Given the description of an element on the screen output the (x, y) to click on. 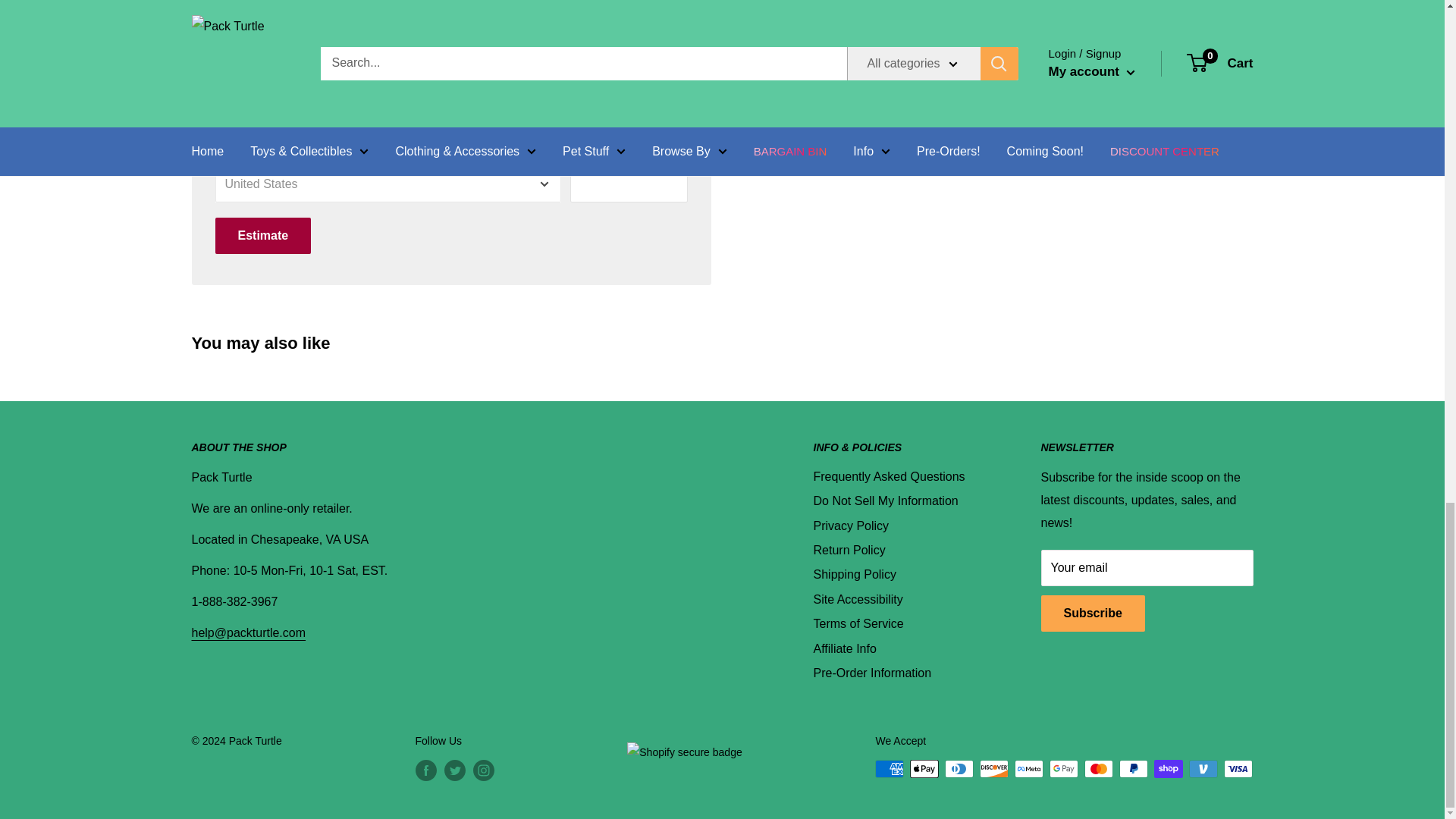
This online store is secured by Shopify (684, 746)
